Given the description of an element on the screen output the (x, y) to click on. 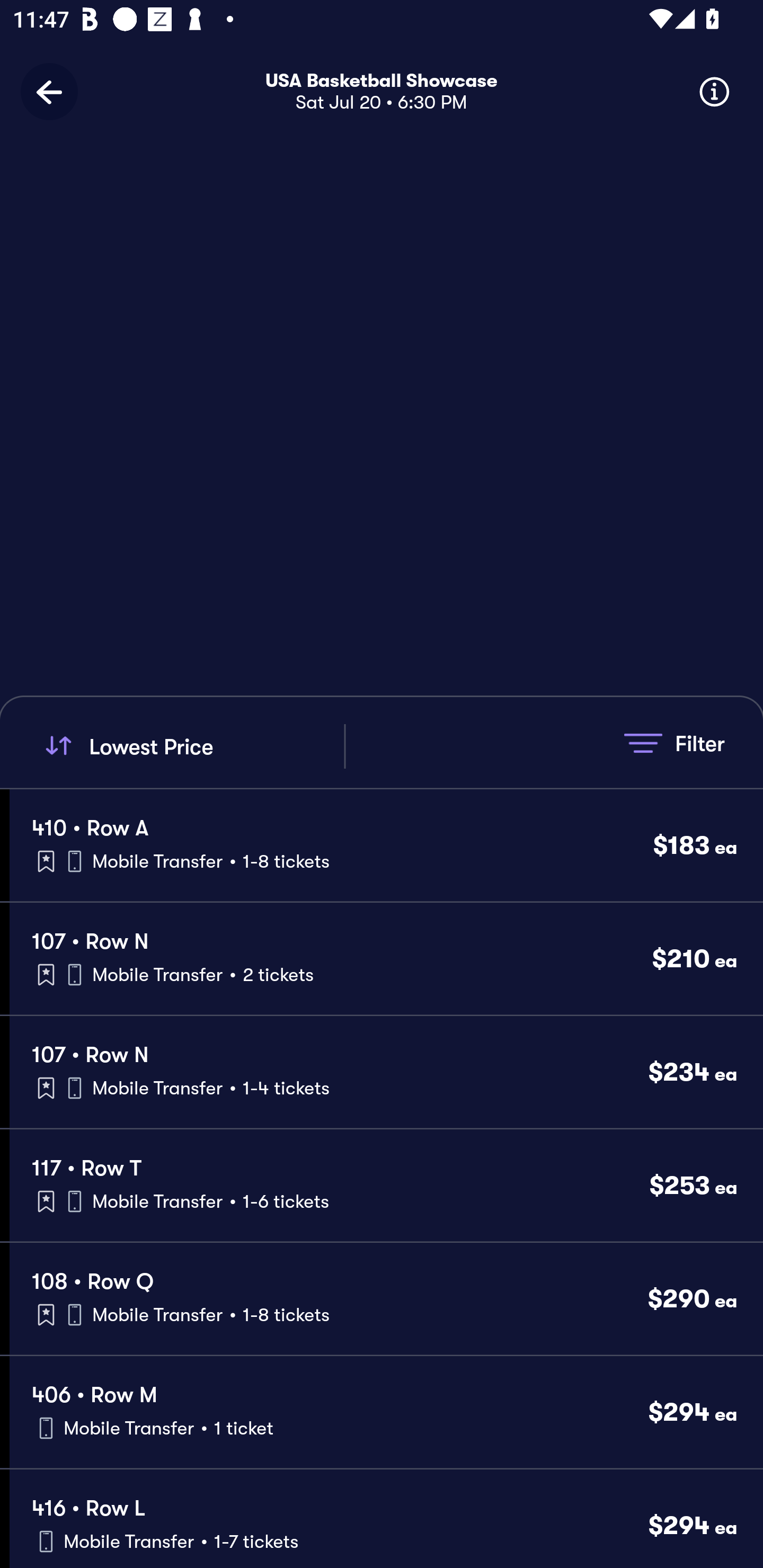
Lowest Price (191, 746)
Filter (674, 743)
410 • Row A Mobile Transfer • 1-8 tickets $183 ea (386, 844)
107 • Row N Mobile Transfer • 2 tickets $210 ea (386, 958)
107 • Row N Mobile Transfer • 1-4 tickets $234 ea (386, 1071)
117 • Row T Mobile Transfer • 1-6 tickets $253 ea (386, 1184)
108 • Row Q Mobile Transfer • 1-8 tickets $290 ea (386, 1298)
406 • Row M Mobile Transfer • 1 ticket $294 ea (386, 1411)
416 • Row L Mobile Transfer • 1-7 tickets $294 ea (386, 1518)
